Given the description of an element on the screen output the (x, y) to click on. 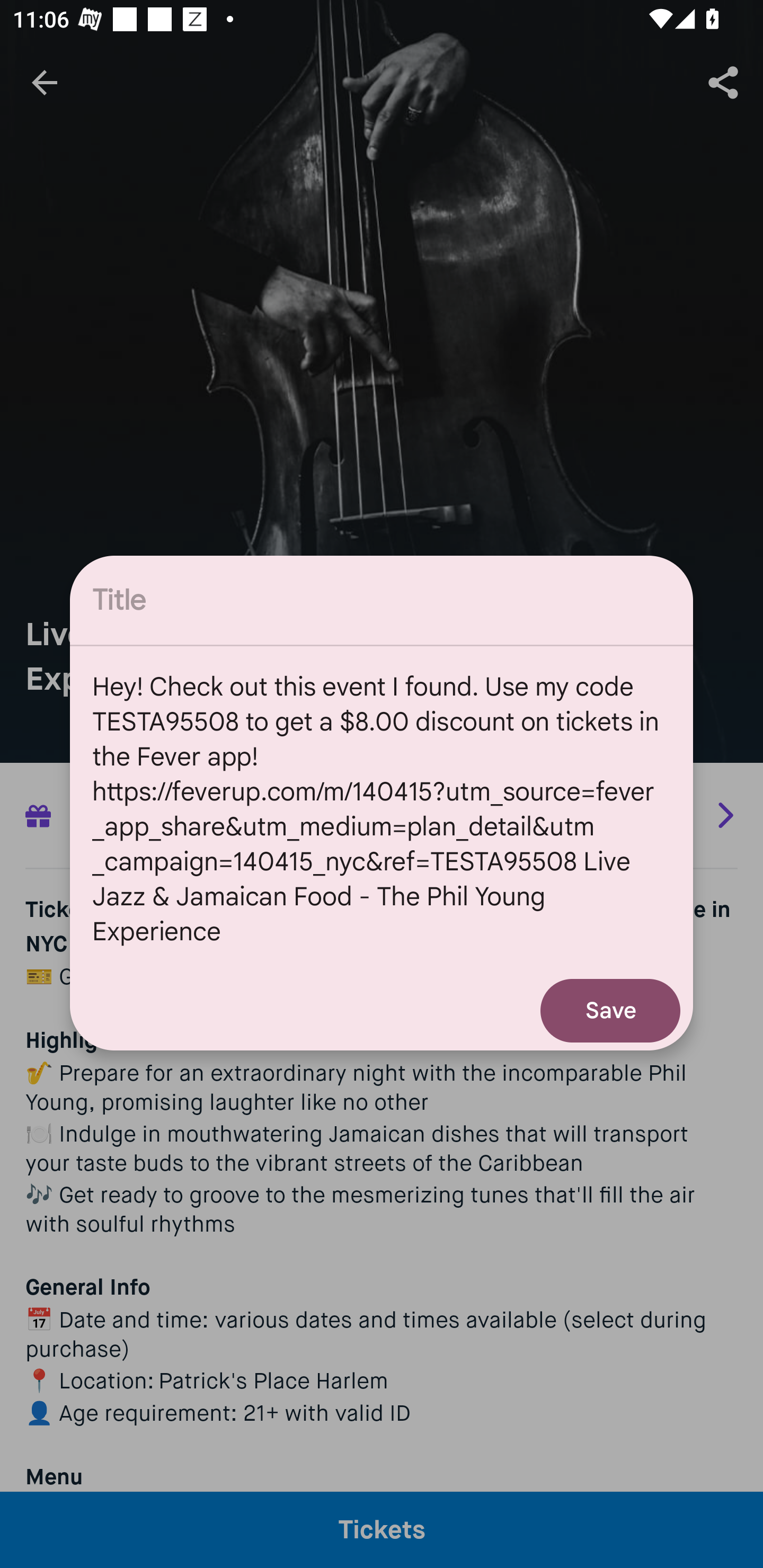
Title (381, 599)
Save (610, 1010)
